Given the description of an element on the screen output the (x, y) to click on. 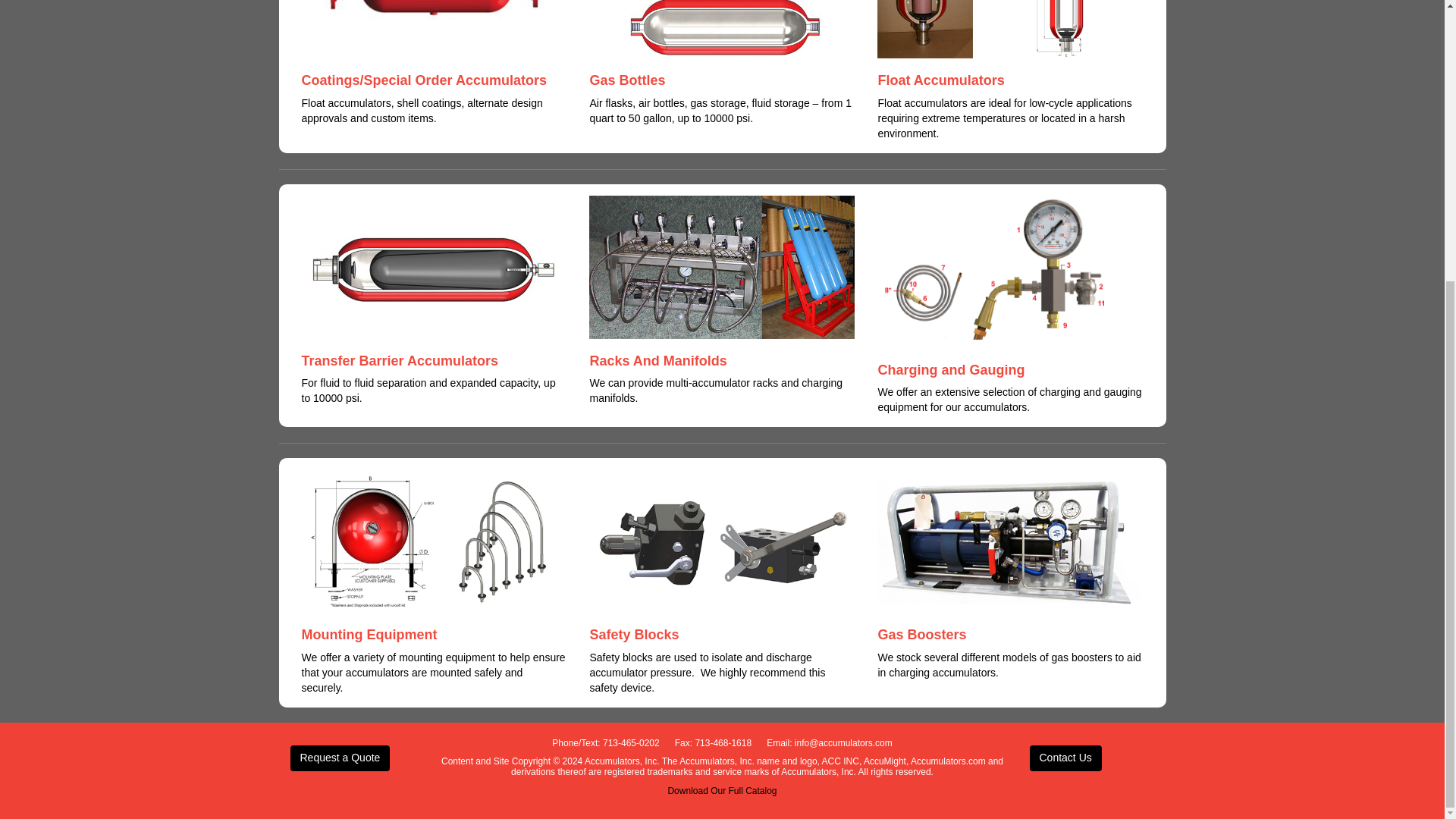
ovw-mounting (434, 540)
ovw-cng (1009, 271)
products-rack-manifold (721, 267)
safety-blocks (721, 540)
gb-landing (1009, 540)
Transfer-Barrier-RS (434, 267)
Gas-Bottle (721, 29)
Special-Order-RS (434, 29)
products-special-order (1009, 29)
